Given the description of an element on the screen output the (x, y) to click on. 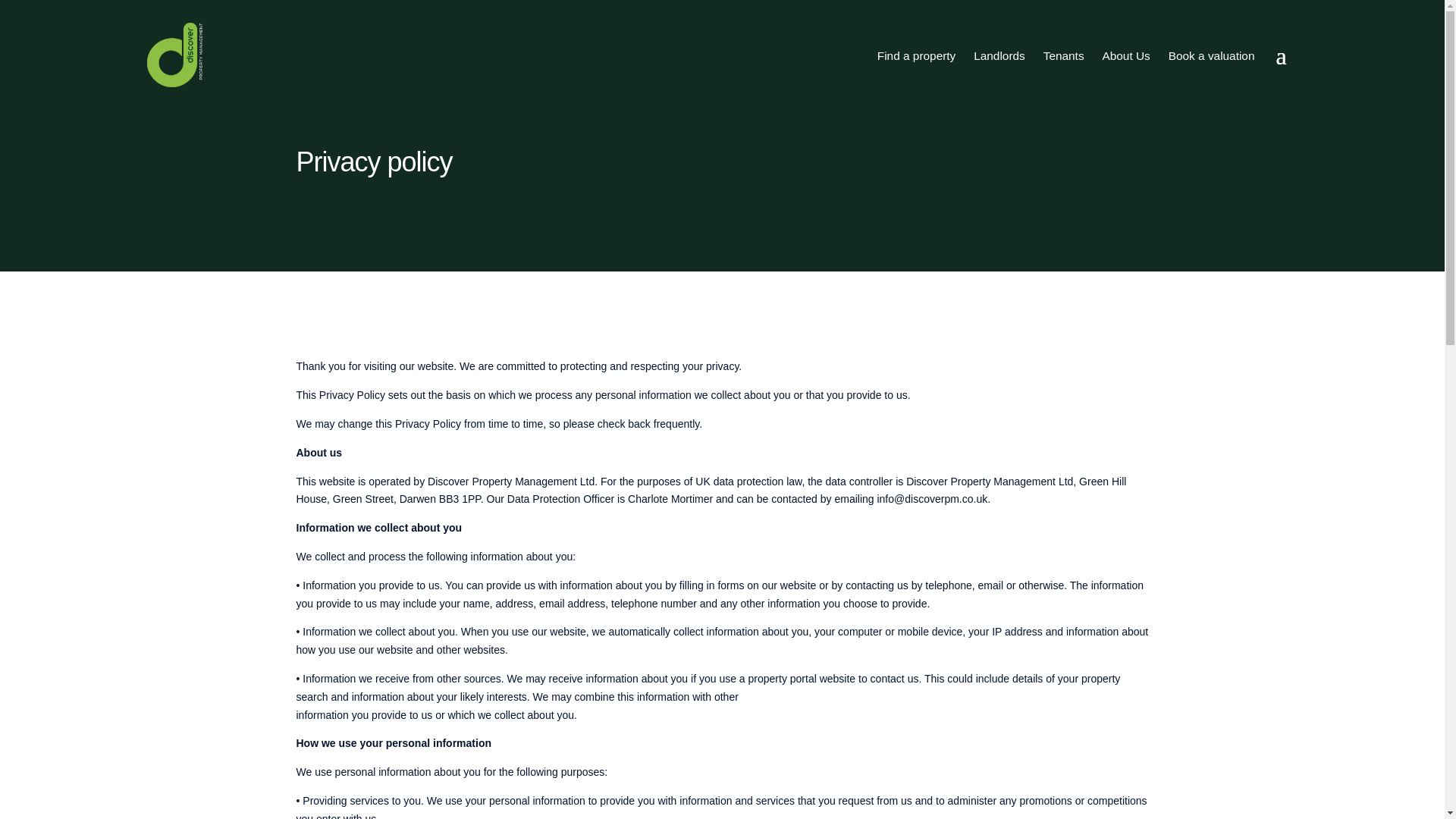
Tenants (1063, 54)
Landlords (999, 54)
About Us (1125, 54)
Find a property (916, 54)
Book a valuation (1211, 54)
